Given the description of an element on the screen output the (x, y) to click on. 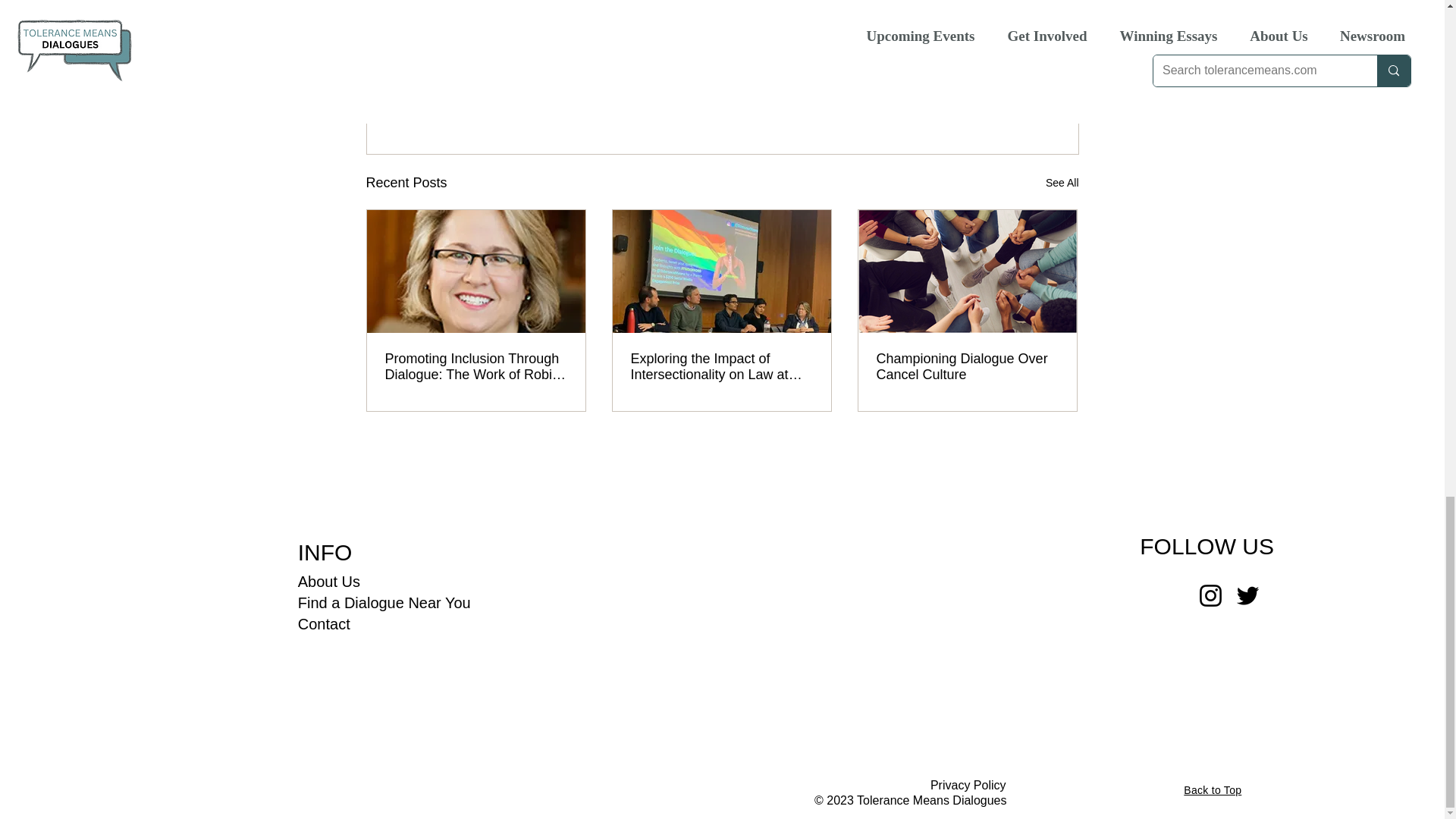
Contact (324, 623)
Championing Dialogue Over Cancel Culture (967, 367)
About Us (328, 581)
Find a Dialogue Near You (384, 602)
Newsroom (977, 85)
Read Full Article (490, 13)
Back to Top (1212, 789)
See All (1061, 182)
Privacy Policy (968, 784)
